Given the description of an element on the screen output the (x, y) to click on. 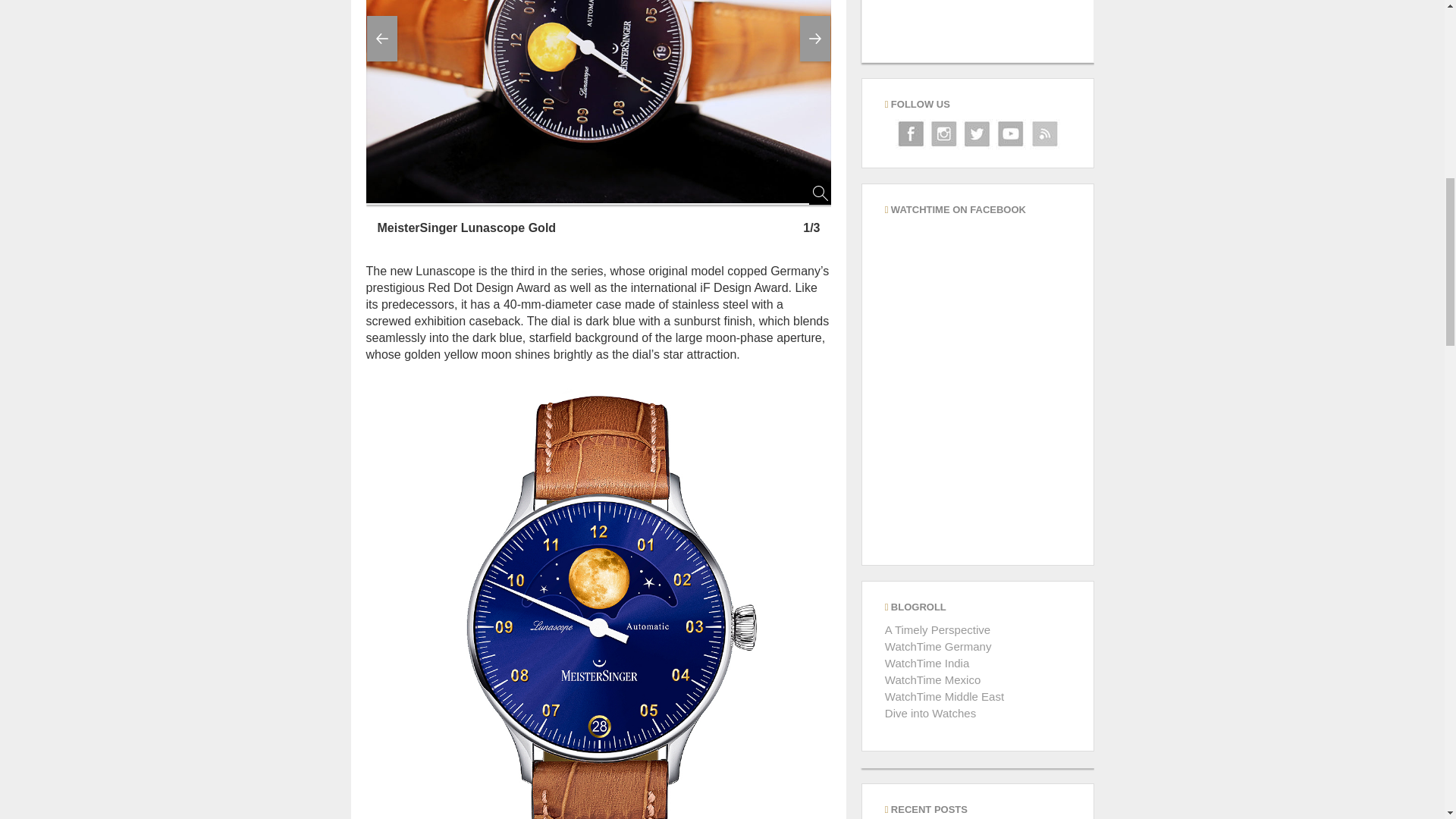
3rd party ad content (976, 31)
